Given the description of an element on the screen output the (x, y) to click on. 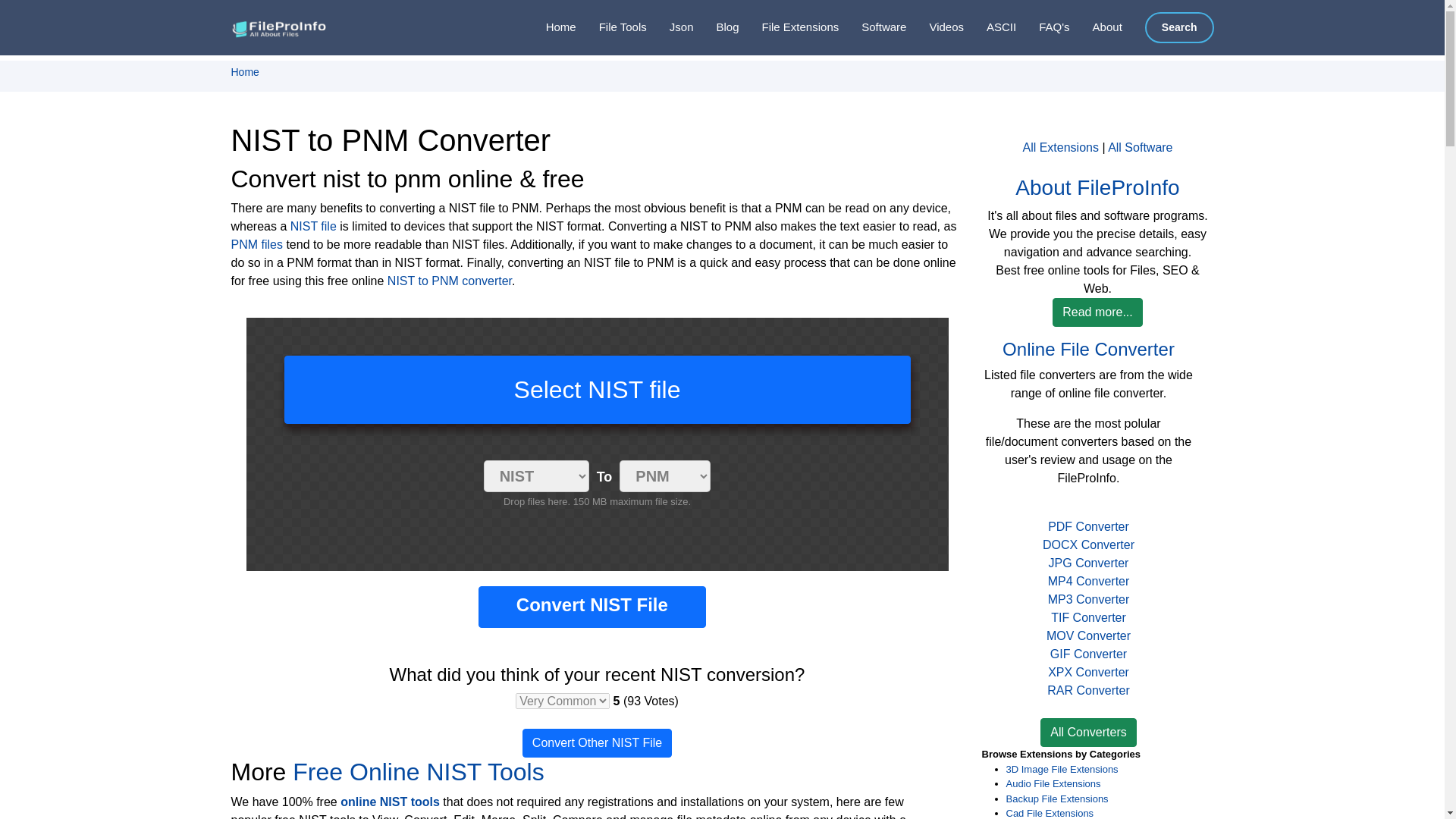
online NIST tools (389, 801)
Free online Json tools (670, 27)
Home (244, 71)
Secure online document tools (611, 27)
File Extensions (789, 27)
File extensions list (789, 27)
Blog (715, 27)
Convert Other NIST File (596, 742)
Videos (934, 27)
free online nist tools (417, 771)
